Given the description of an element on the screen output the (x, y) to click on. 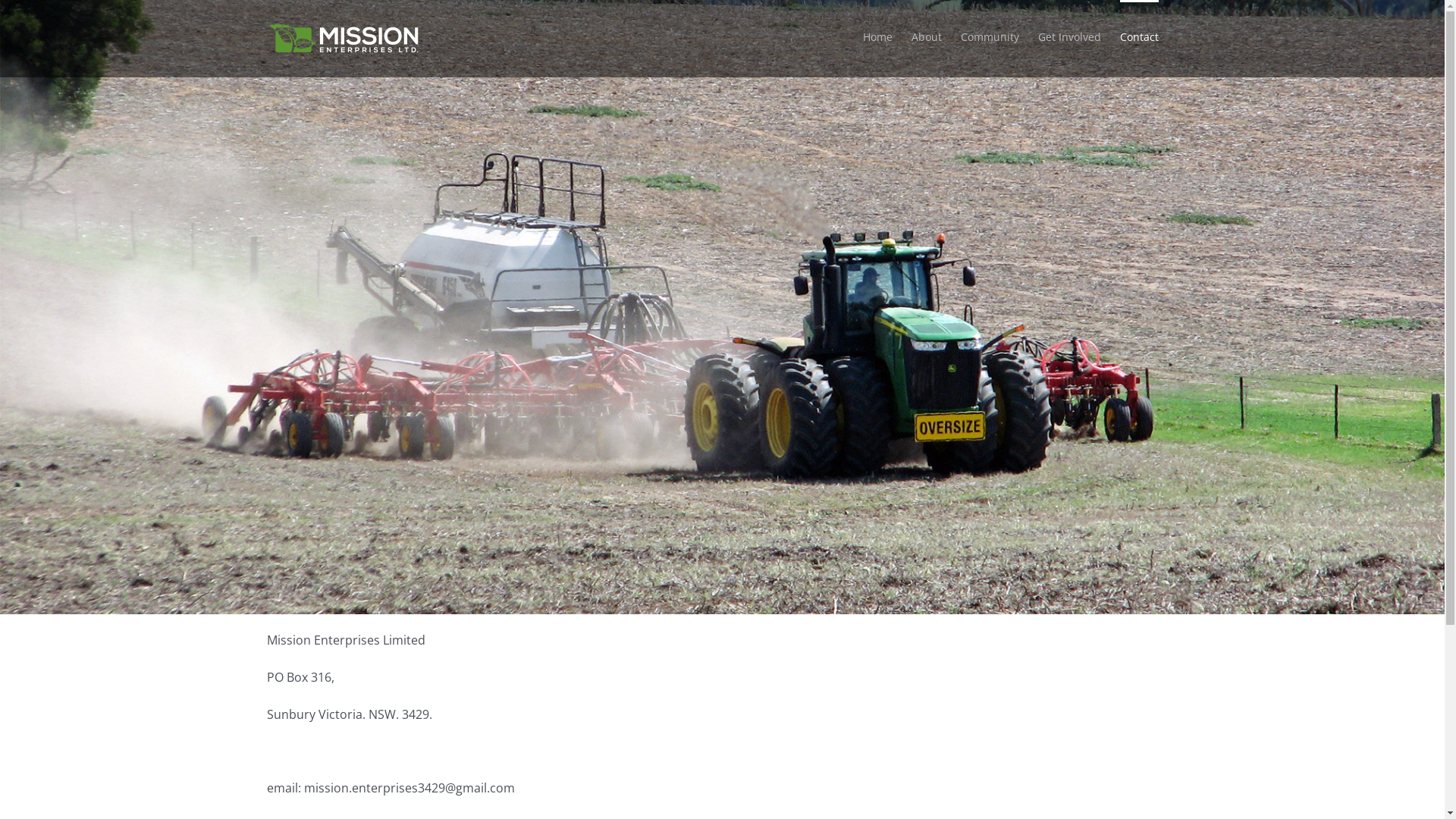
About Element type: text (926, 35)
Contact Element type: text (1138, 35)
Home Element type: text (877, 35)
Community Element type: text (989, 35)
Get Involved Element type: text (1068, 35)
